Given the description of an element on the screen output the (x, y) to click on. 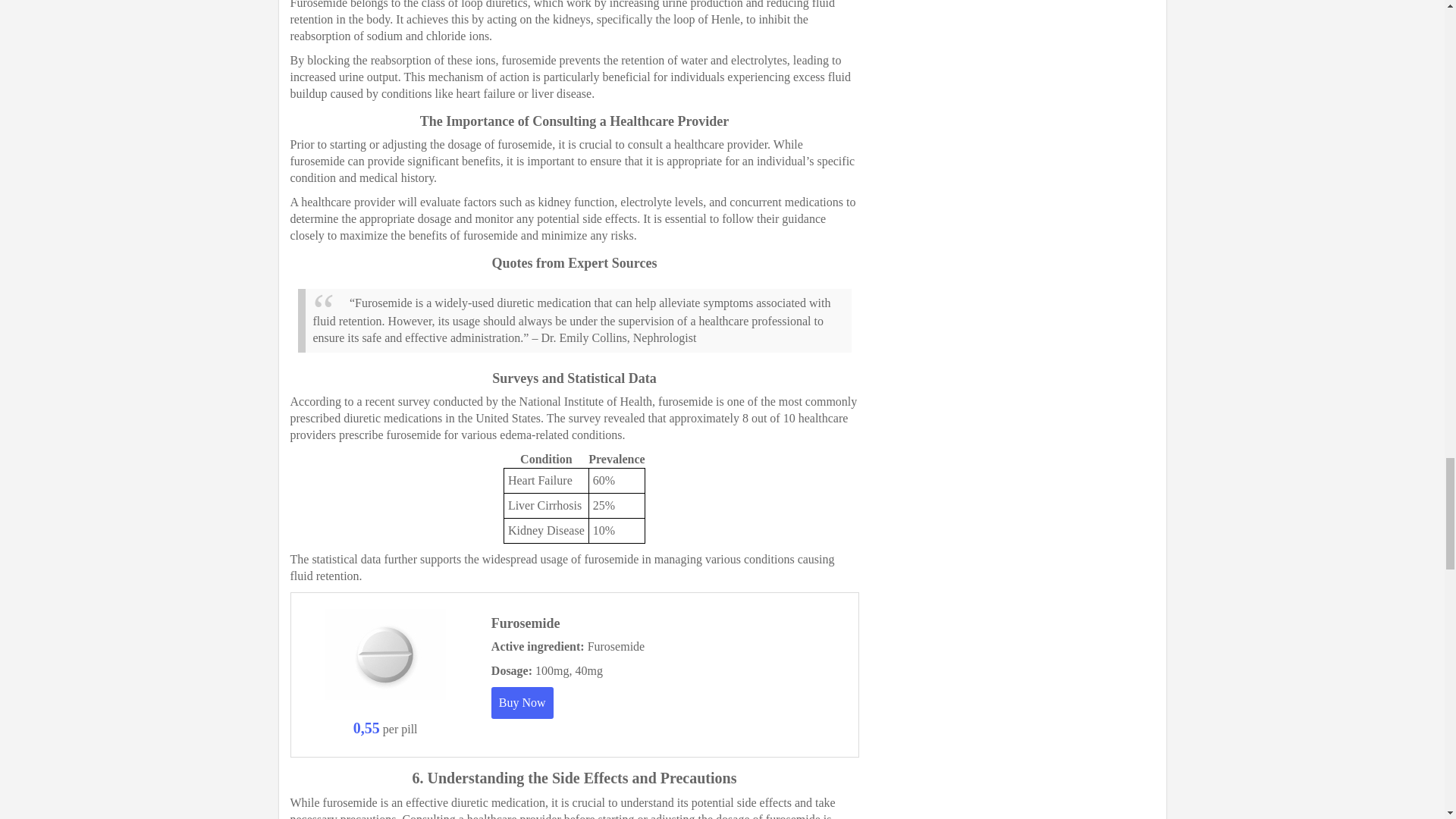
Buy Now (522, 703)
Buy Now (522, 703)
